Given the description of an element on the screen output the (x, y) to click on. 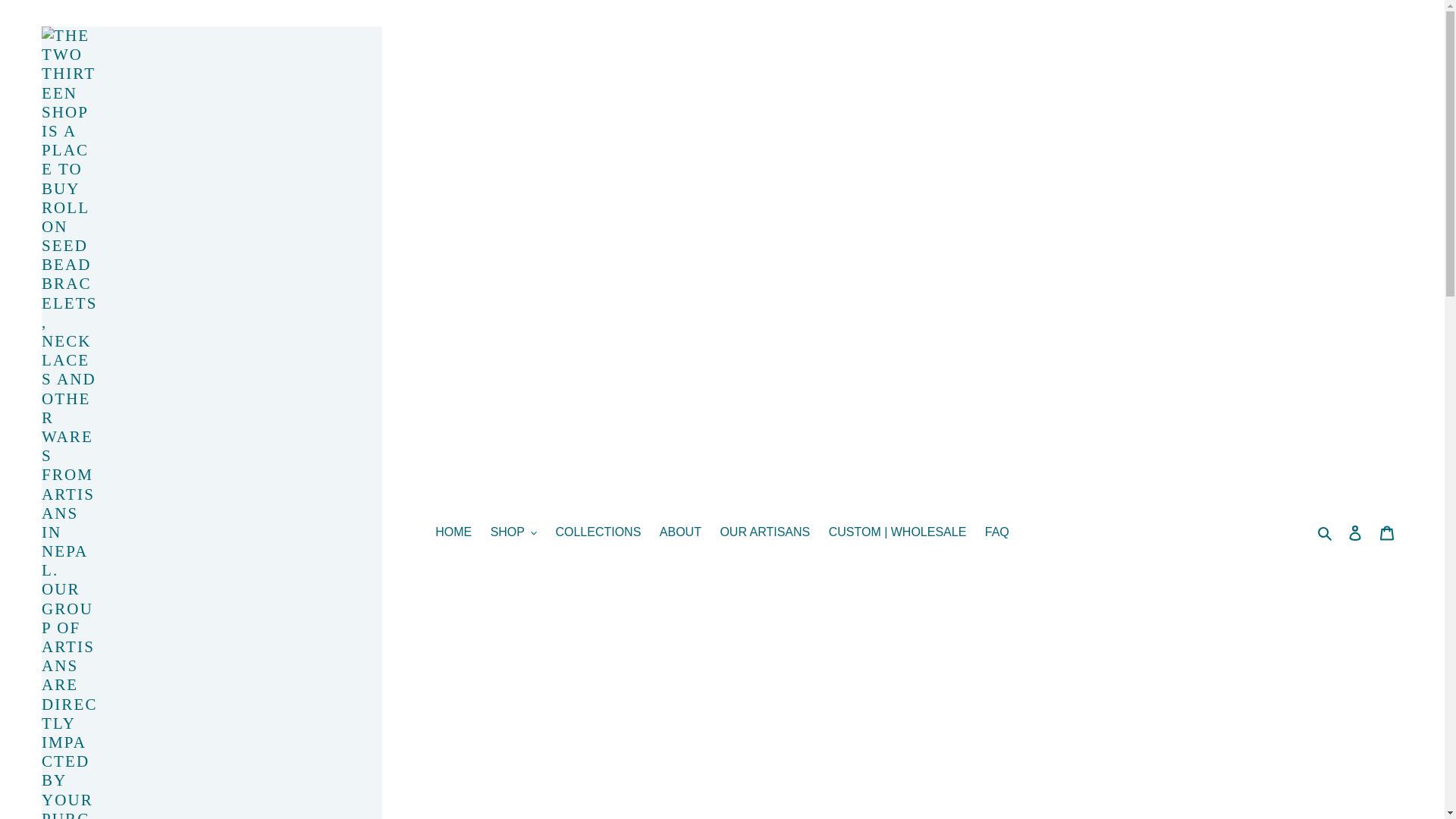
SHOP (513, 531)
ABOUT (680, 531)
Cart (1387, 531)
Log in (1355, 531)
COLLECTIONS (597, 531)
Search (1326, 532)
OUR ARTISANS (763, 531)
HOME (453, 531)
FAQ (996, 531)
